Given the description of an element on the screen output the (x, y) to click on. 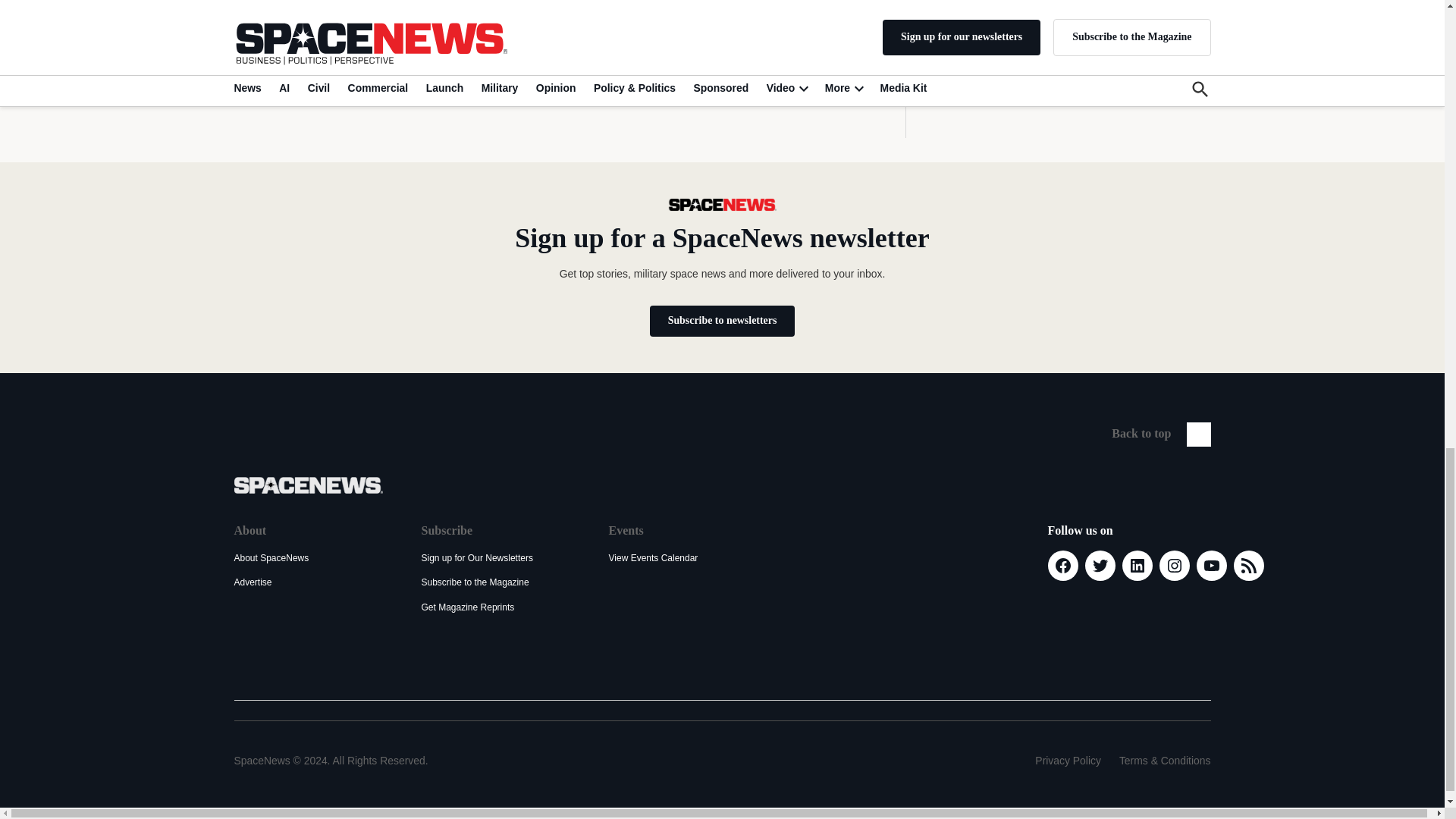
Space-Comm Expo Scotland (1043, 7)
